Given the description of an element on the screen output the (x, y) to click on. 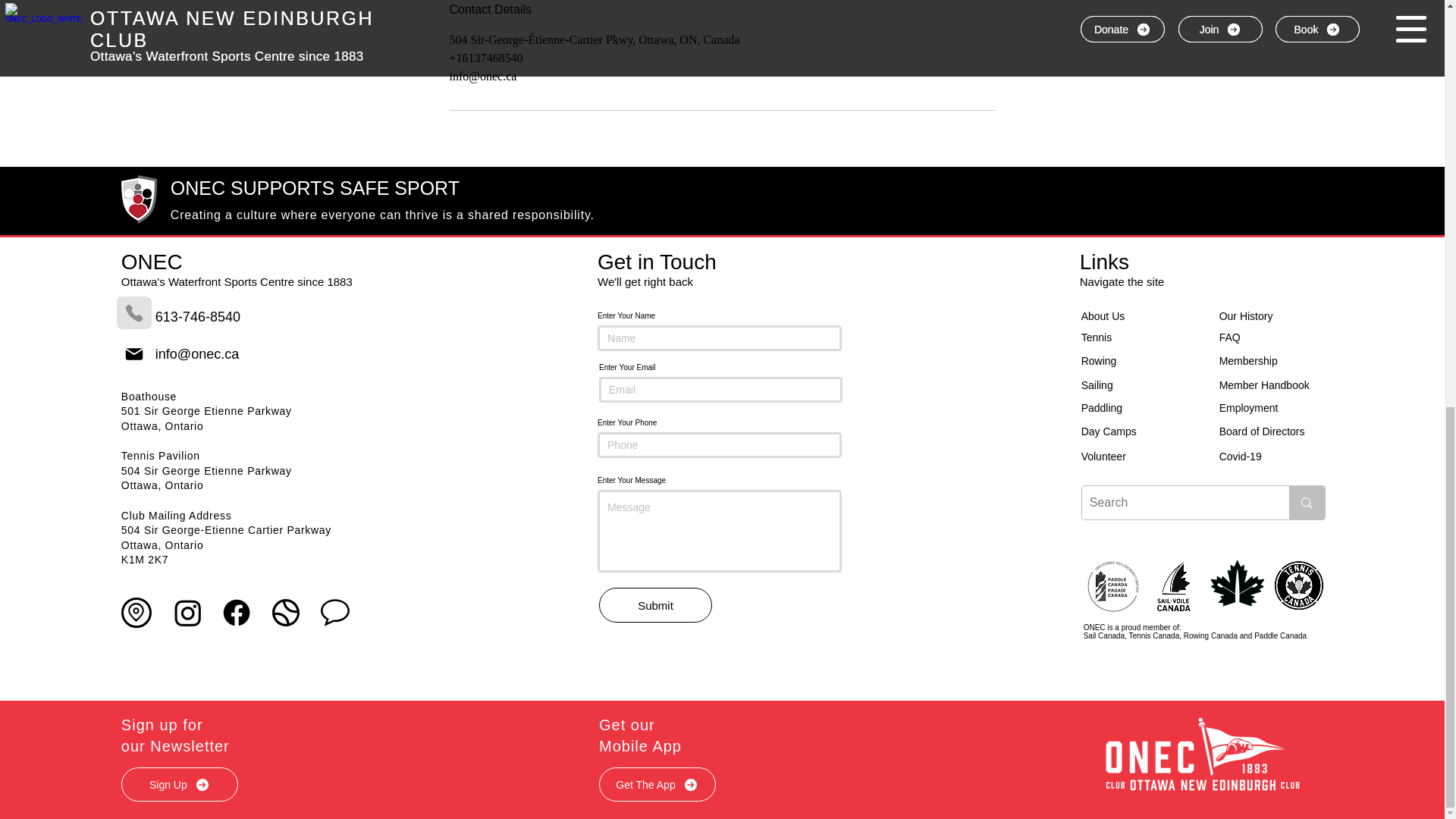
Member Handbook (1279, 384)
Employment (1269, 407)
Submit (654, 605)
Membership (1258, 360)
Board of Directors (1276, 431)
Tennis (1106, 337)
Volunteer (1130, 456)
About Us (1130, 315)
Day Camps (1126, 431)
